Given the description of an element on the screen output the (x, y) to click on. 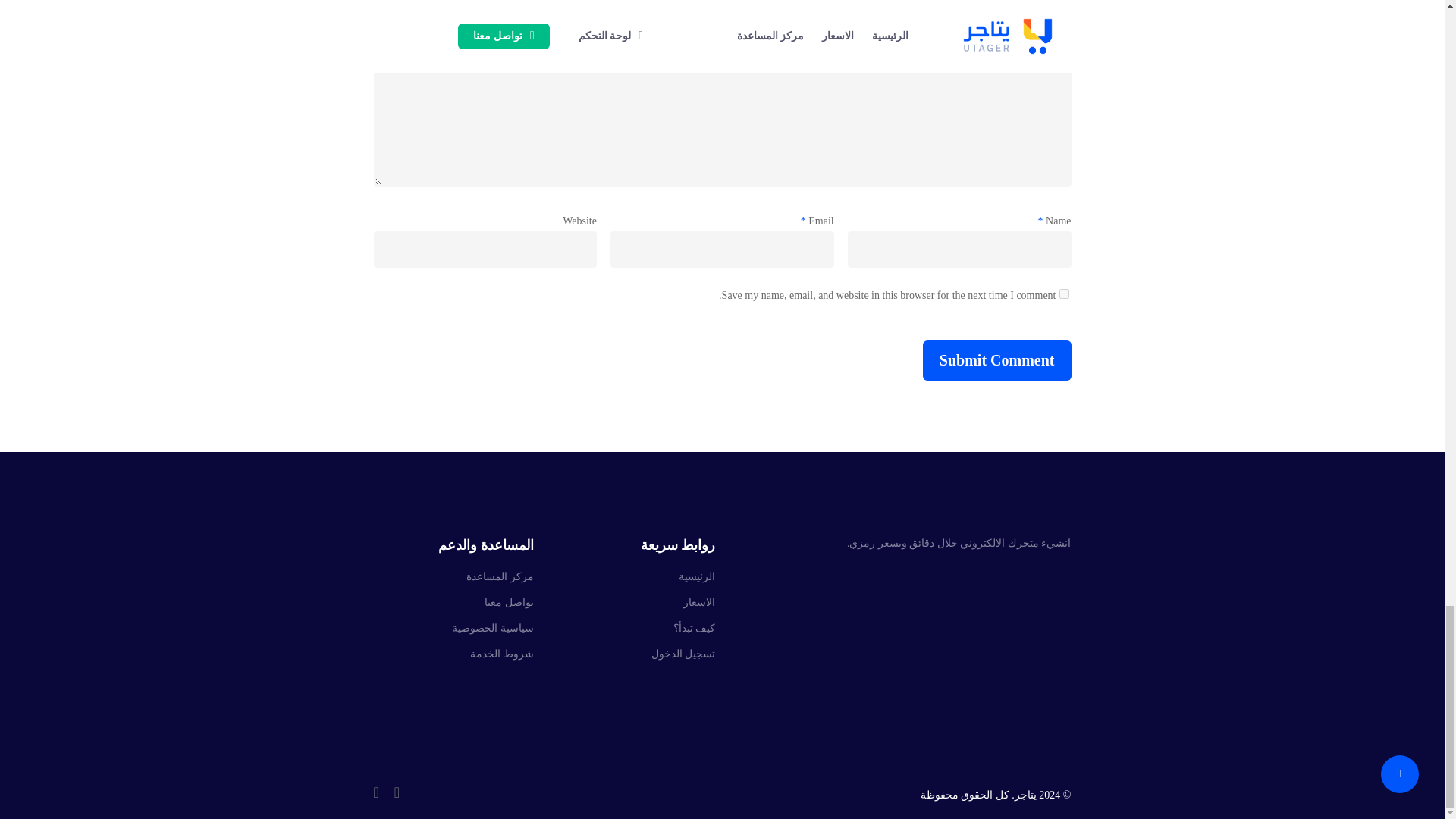
Submit Comment (997, 360)
yes (1063, 293)
Submit Comment (997, 360)
